Given the description of an element on the screen output the (x, y) to click on. 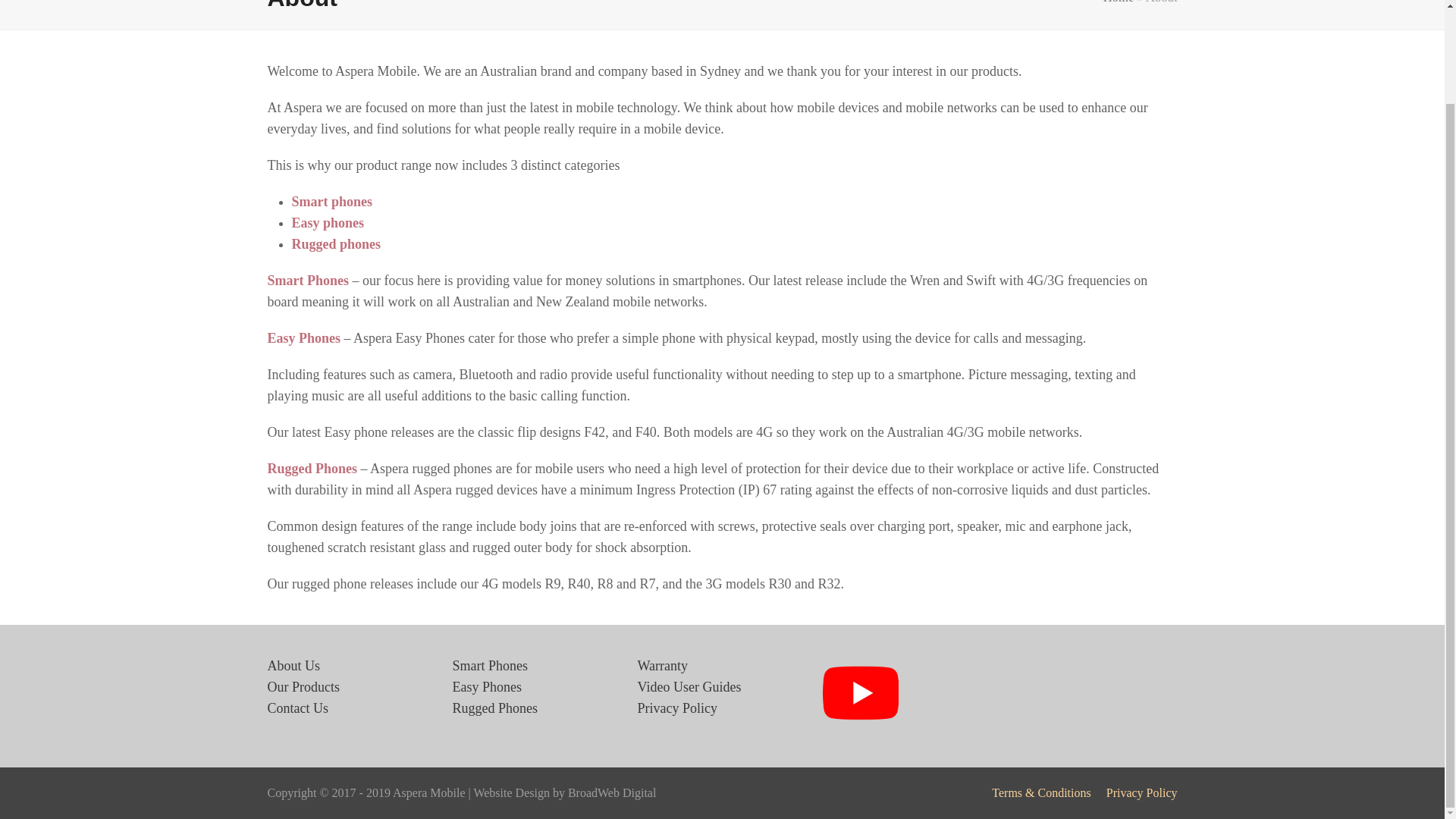
Privacy Policy (677, 708)
Video User Guides (689, 686)
Aspera Easy Phones (486, 686)
Website Design (510, 792)
Our Products (302, 686)
Aspera Smart Phones (489, 665)
Rugged phones (335, 243)
Privacy Policy (677, 708)
About Us (293, 665)
Easy Phones (303, 337)
Aspera FAQ's (662, 665)
Smart Phones (489, 665)
Aspera Rugged Phones (494, 708)
Rugged Phones (494, 708)
About Aspera Mobile (293, 665)
